Given the description of an element on the screen output the (x, y) to click on. 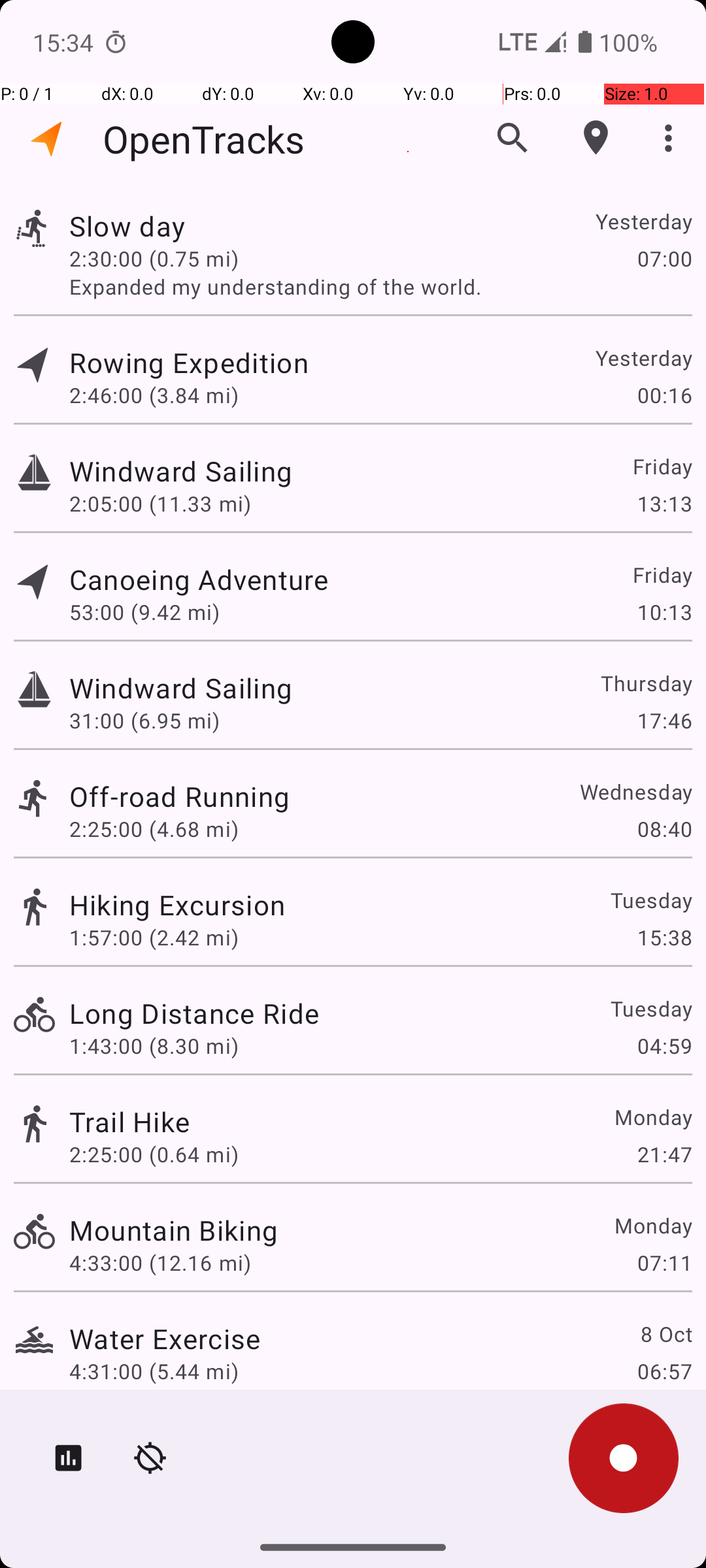
Slow day Element type: android.widget.TextView (126, 225)
2:30:00 (0.75 mi) Element type: android.widget.TextView (153, 258)
Expanded my understanding of the world. Element type: android.widget.TextView (380, 286)
Rowing Expedition Element type: android.widget.TextView (188, 361)
2:46:00 (3.84 mi) Element type: android.widget.TextView (153, 394)
00:16 Element type: android.widget.TextView (664, 394)
Windward Sailing Element type: android.widget.TextView (180, 470)
2:05:00 (11.33 mi) Element type: android.widget.TextView (159, 503)
13:13 Element type: android.widget.TextView (664, 503)
Canoeing Adventure Element type: android.widget.TextView (198, 578)
53:00 (9.42 mi) Element type: android.widget.TextView (144, 611)
10:13 Element type: android.widget.TextView (664, 611)
31:00 (6.95 mi) Element type: android.widget.TextView (144, 720)
17:46 Element type: android.widget.TextView (664, 720)
Off-road Running Element type: android.widget.TextView (179, 795)
2:25:00 (4.68 mi) Element type: android.widget.TextView (153, 828)
08:40 Element type: android.widget.TextView (664, 828)
Hiking Excursion Element type: android.widget.TextView (176, 904)
1:57:00 (2.42 mi) Element type: android.widget.TextView (153, 937)
15:38 Element type: android.widget.TextView (664, 937)
Long Distance Ride Element type: android.widget.TextView (193, 1012)
1:43:00 (8.30 mi) Element type: android.widget.TextView (153, 1045)
04:59 Element type: android.widget.TextView (664, 1045)
Trail Hike Element type: android.widget.TextView (129, 1121)
2:25:00 (0.64 mi) Element type: android.widget.TextView (153, 1154)
21:47 Element type: android.widget.TextView (664, 1154)
Mountain Biking Element type: android.widget.TextView (173, 1229)
4:33:00 (12.16 mi) Element type: android.widget.TextView (159, 1262)
07:11 Element type: android.widget.TextView (664, 1262)
Water Exercise Element type: android.widget.TextView (164, 1337)
4:31:00 (5.44 mi) Element type: android.widget.TextView (153, 1370)
06:57 Element type: android.widget.TextView (664, 1370)
